Given the description of an element on the screen output the (x, y) to click on. 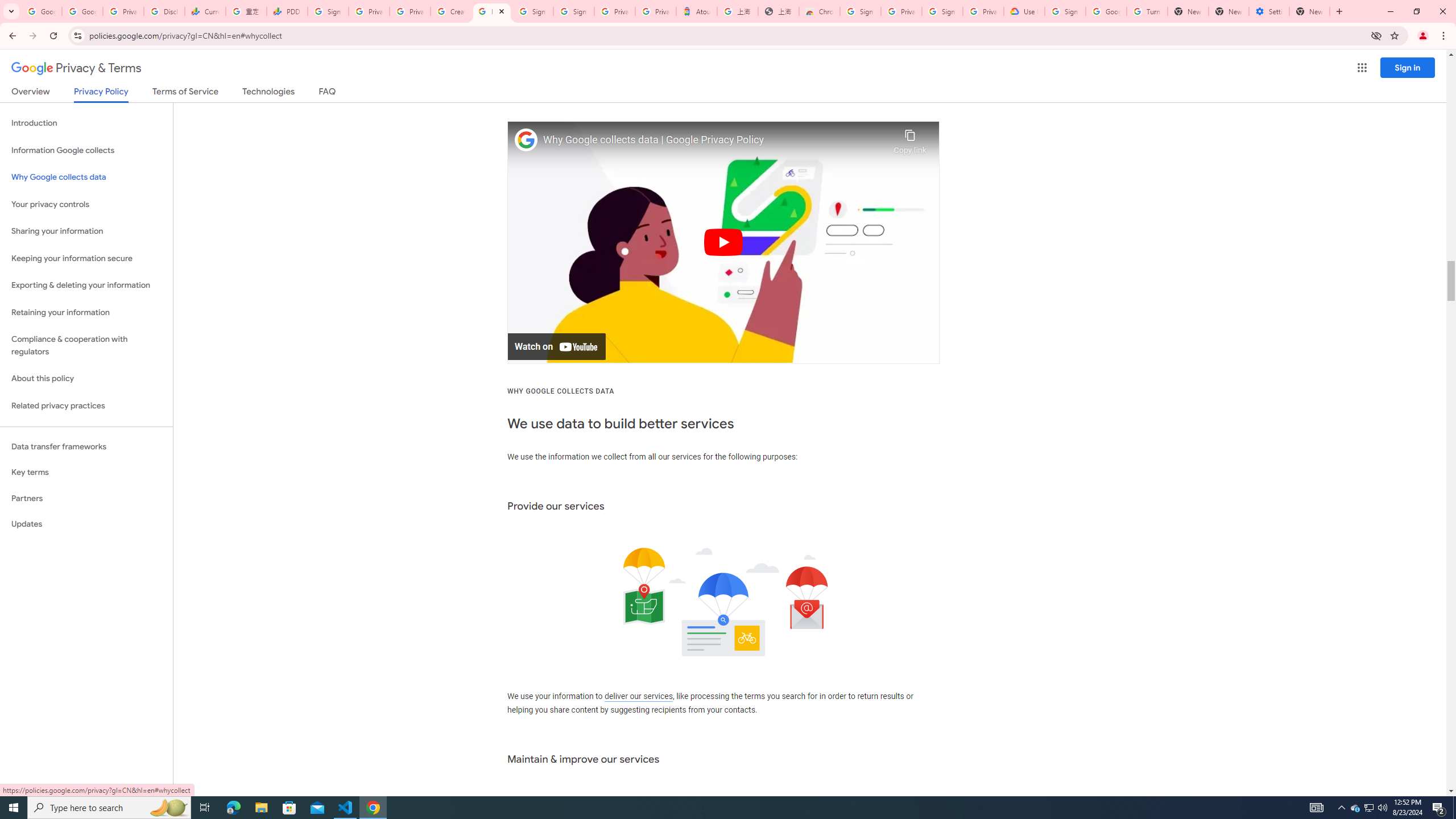
Information Google collects (86, 150)
Currencies - Google Finance (205, 11)
Google Account Help (1105, 11)
Compliance & cooperation with regulators (86, 345)
Turn cookies on or off - Computer - Google Account Help (1146, 11)
Sign in - Google Accounts (573, 11)
deliver our services (638, 696)
